Given the description of an element on the screen output the (x, y) to click on. 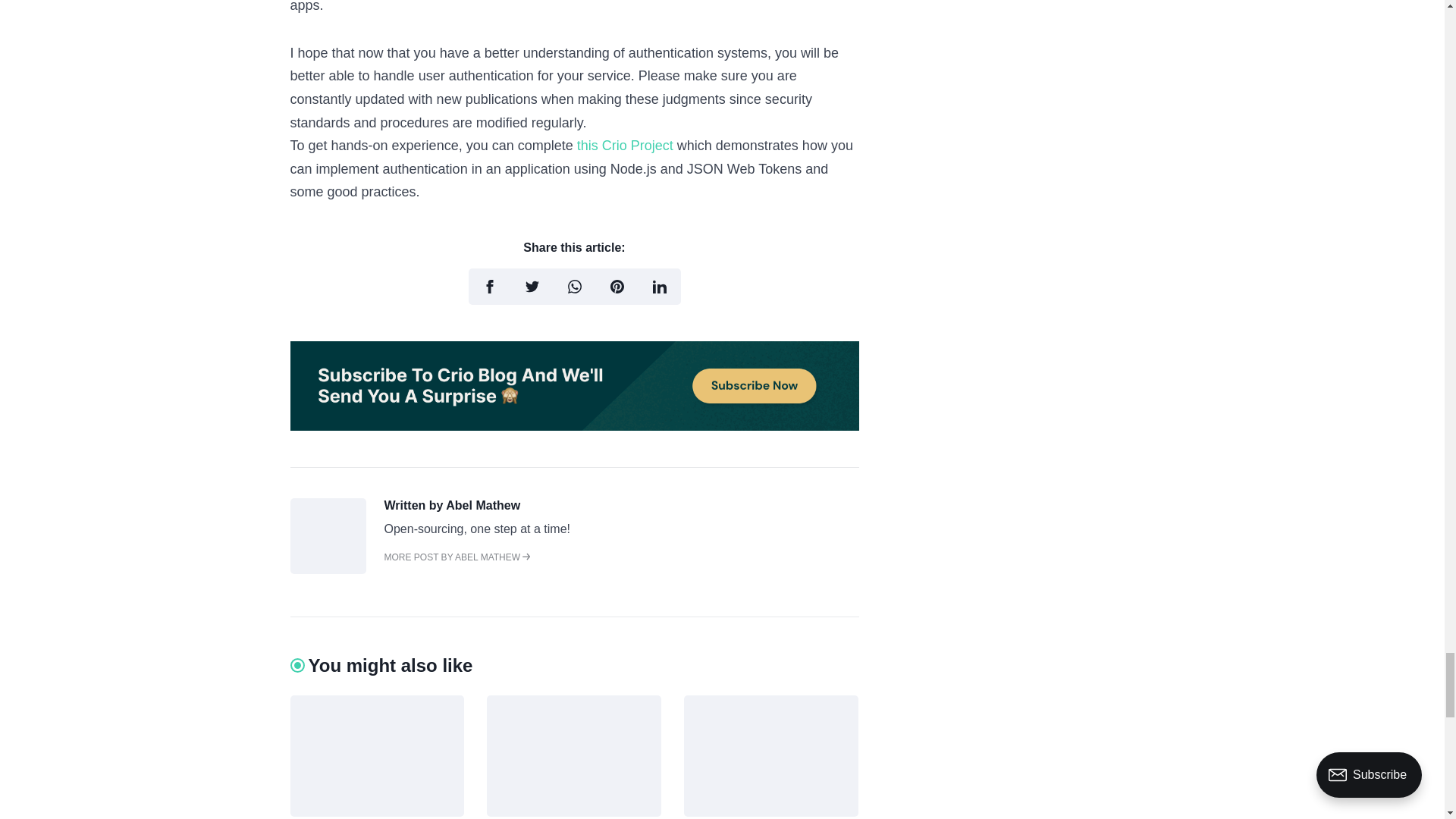
Share on Facebook (489, 286)
this Crio Project (624, 146)
Abel Mathew (327, 569)
Share on Twitter (532, 286)
Share on Pinterest (617, 286)
Share on Whatsapp (574, 286)
Share on Linkedin (660, 286)
